Given the description of an element on the screen output the (x, y) to click on. 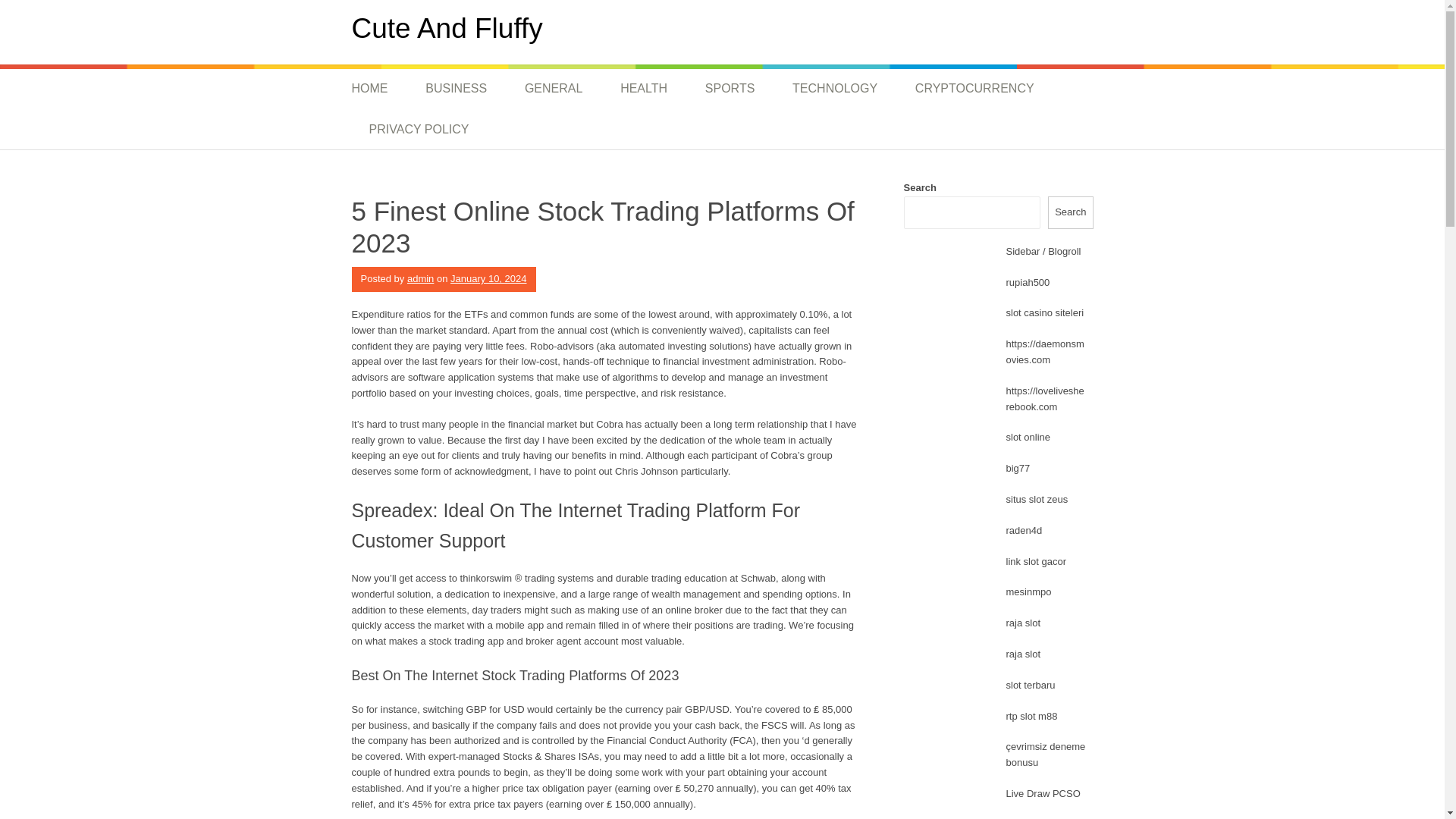
HEALTH (643, 87)
big77 (1017, 468)
raja slot (1023, 622)
Search (1070, 212)
Live Draw PCSO (1043, 793)
HOME (379, 87)
slot online (1027, 437)
situs slot zeus (1036, 499)
Cute And Fluffy (447, 28)
rupiah500 (1027, 282)
